Given the description of an element on the screen output the (x, y) to click on. 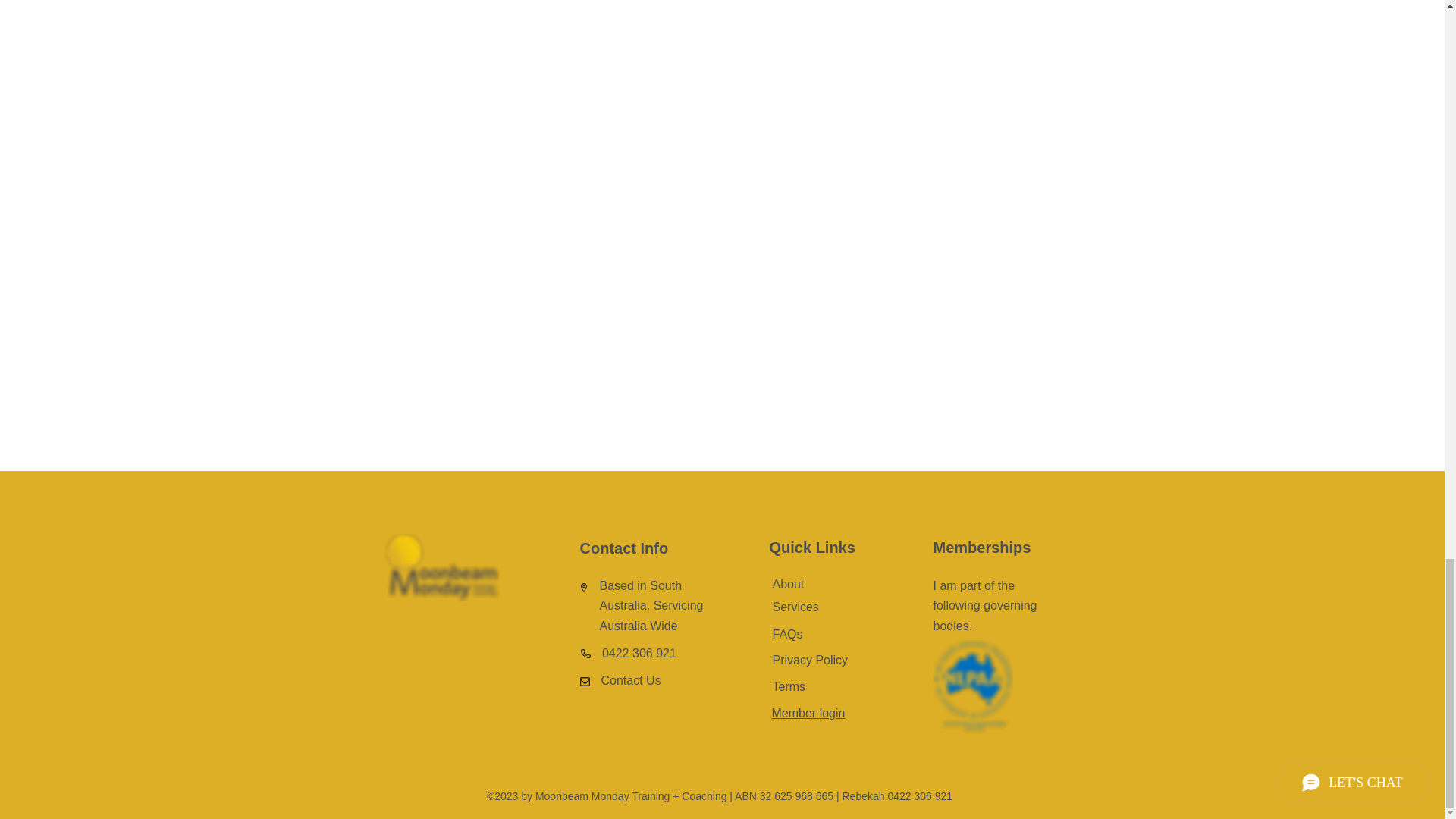
Privacy Policy (809, 659)
Services (794, 606)
FAQs (786, 634)
Member login (808, 712)
About (787, 584)
